Given the description of an element on the screen output the (x, y) to click on. 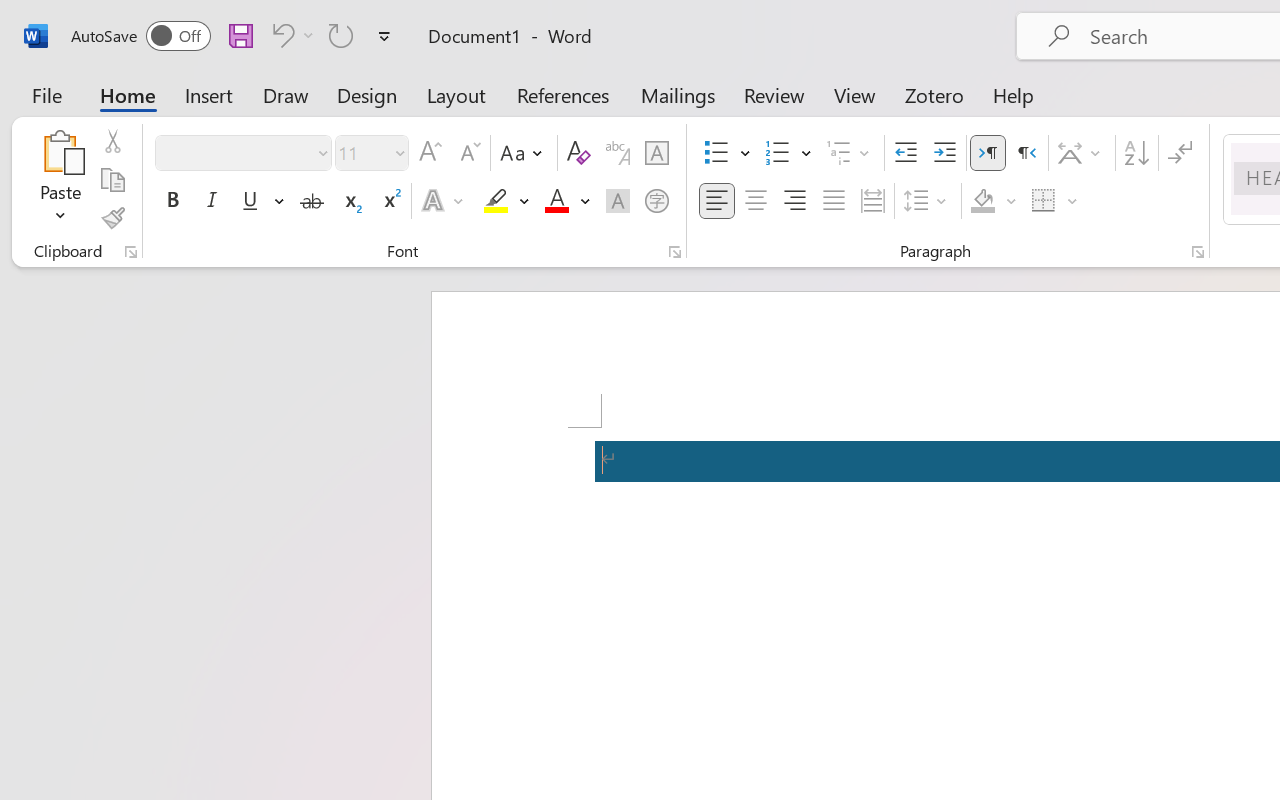
Right-to-Left (1026, 153)
